Given the description of an element on the screen output the (x, y) to click on. 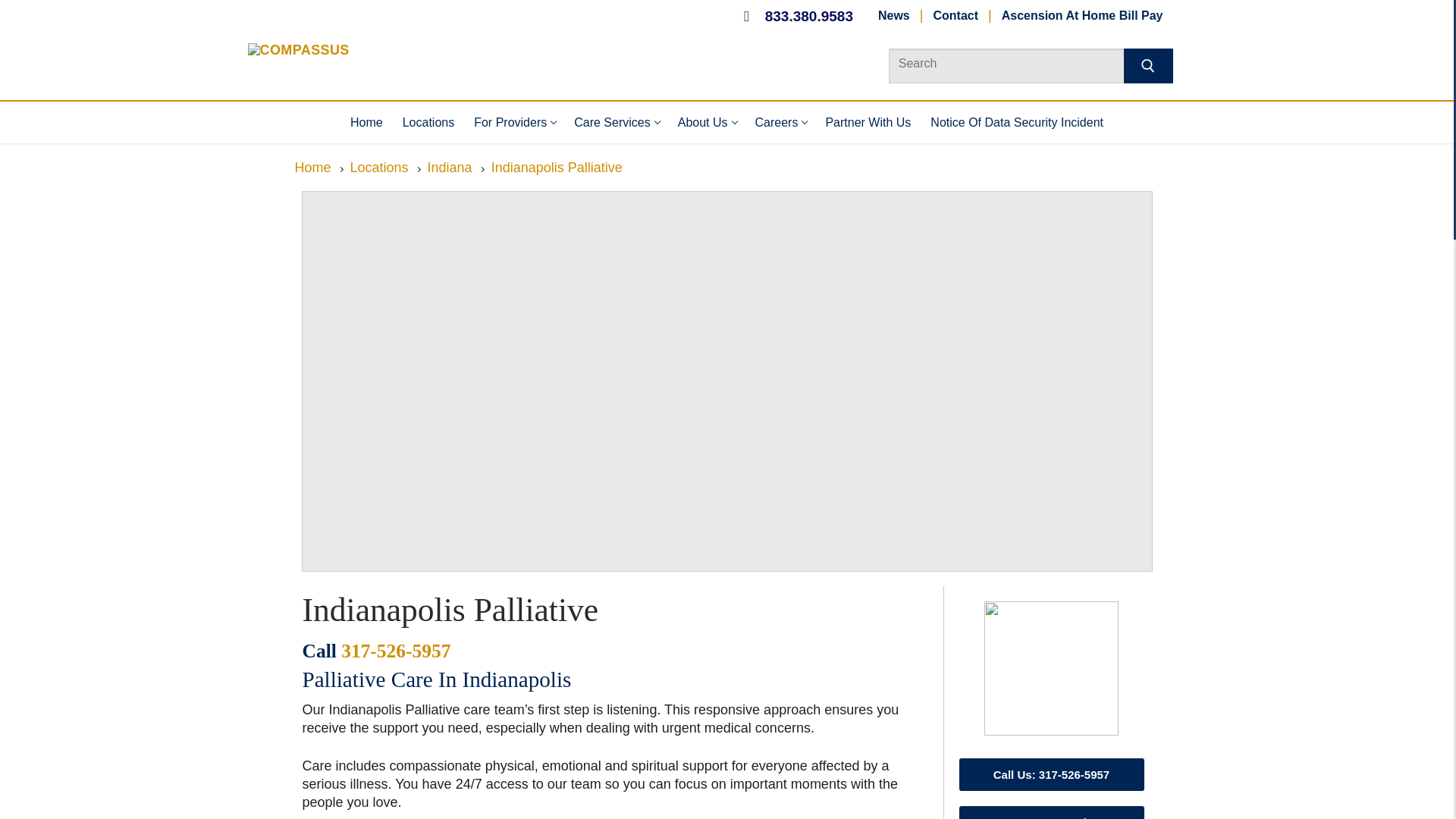
Contact (514, 122)
Locations (955, 15)
Search for: (615, 122)
Ascension At Home Bill Pay (428, 122)
News (1021, 63)
833.380.9583 (1082, 15)
Home (893, 15)
